Given the description of an element on the screen output the (x, y) to click on. 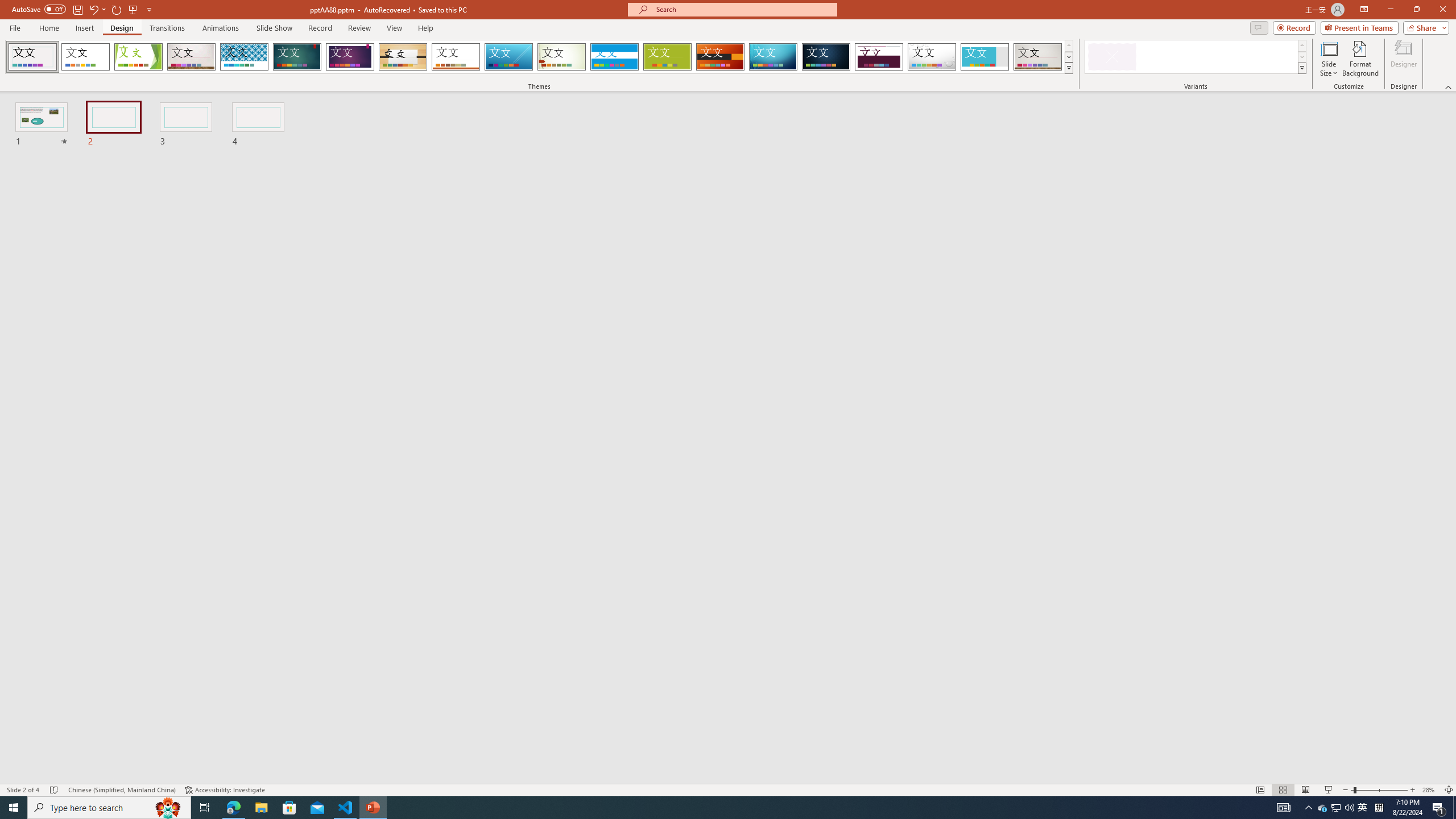
AutomationID: ThemeVariantsGallery (1195, 56)
Basis Loading Preview... (667, 56)
LimelightVTI (32, 56)
Ion Boardroom Loading Preview... (350, 56)
